Given the description of an element on the screen output the (x, y) to click on. 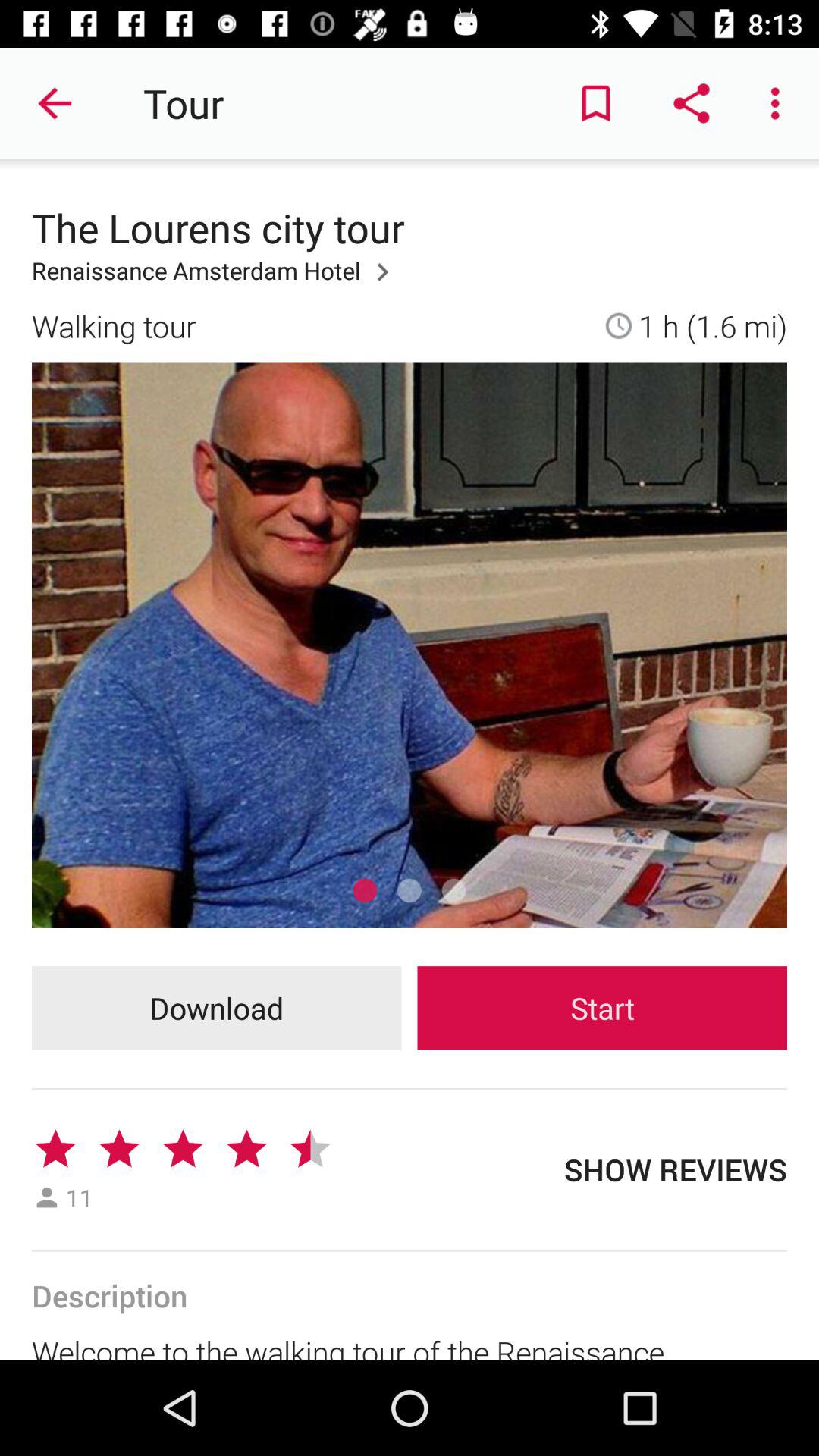
turn off the item next to tour item (595, 103)
